Given the description of an element on the screen output the (x, y) to click on. 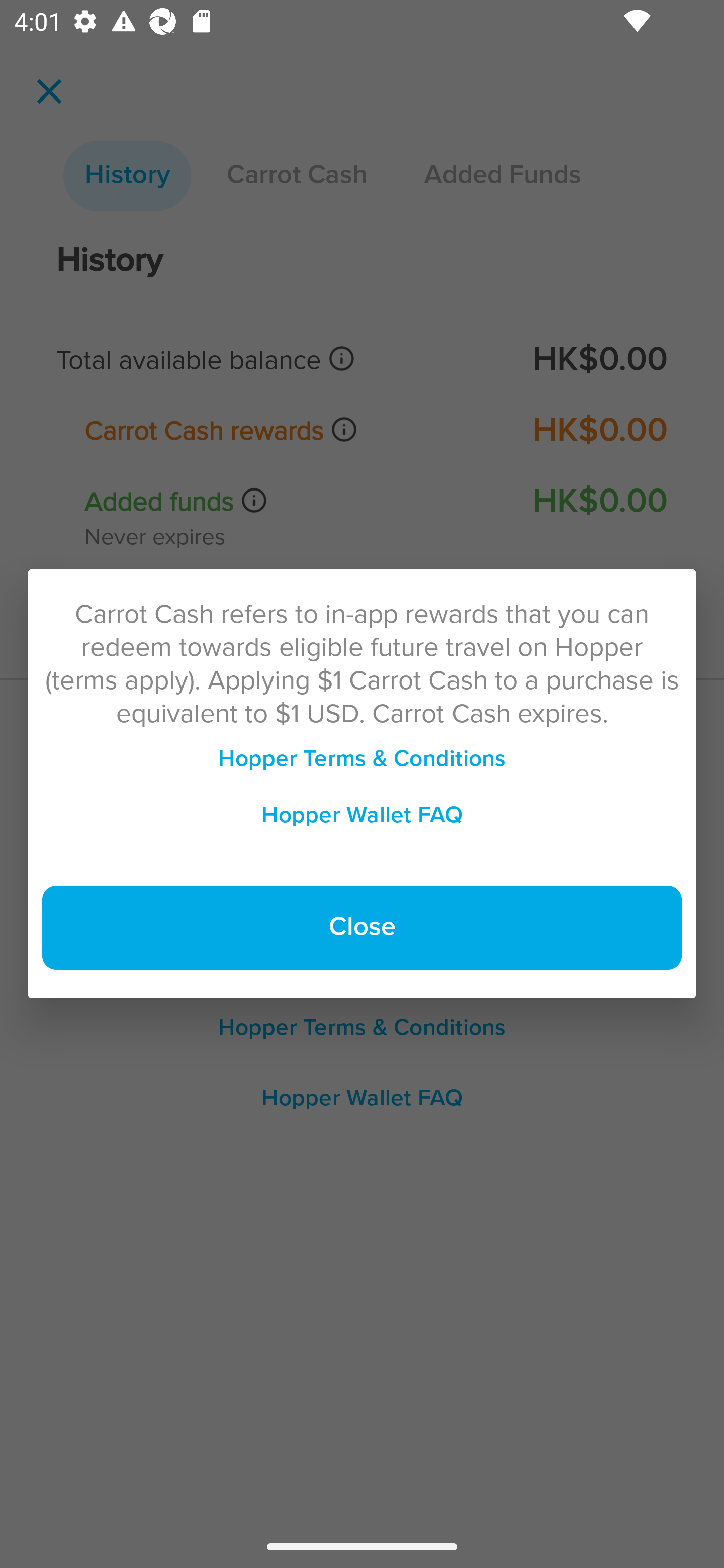
‍Hopper Terms & Conditions (361, 758)
‍Hopper Wallet FAQ (361, 815)
‍Close (361, 927)
